Given the description of an element on the screen output the (x, y) to click on. 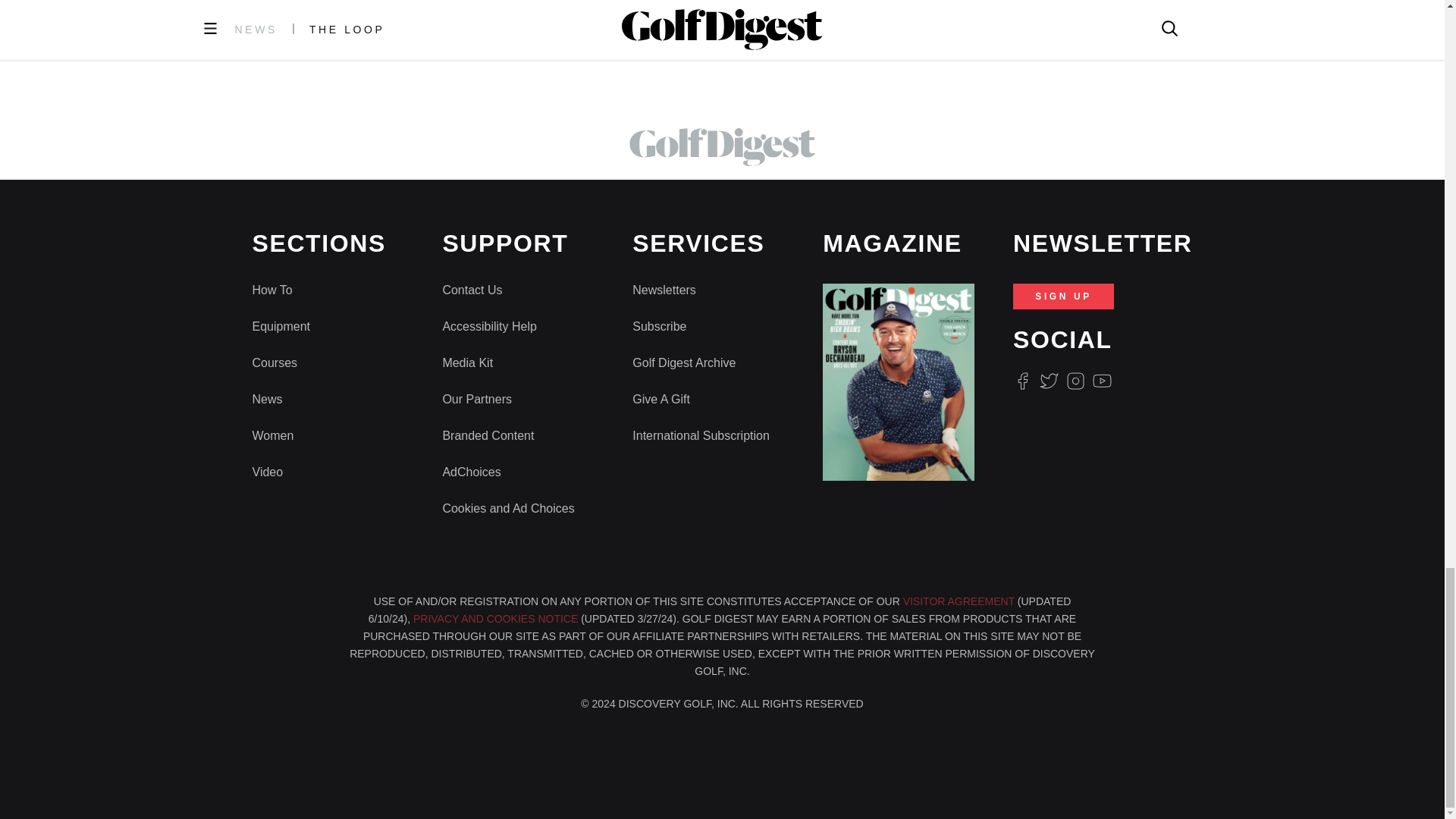
Instagram Logo (1074, 380)
Facebook Logo (1022, 380)
Youtube Icon (1102, 380)
Twitter Logo (1048, 380)
